Given the description of an element on the screen output the (x, y) to click on. 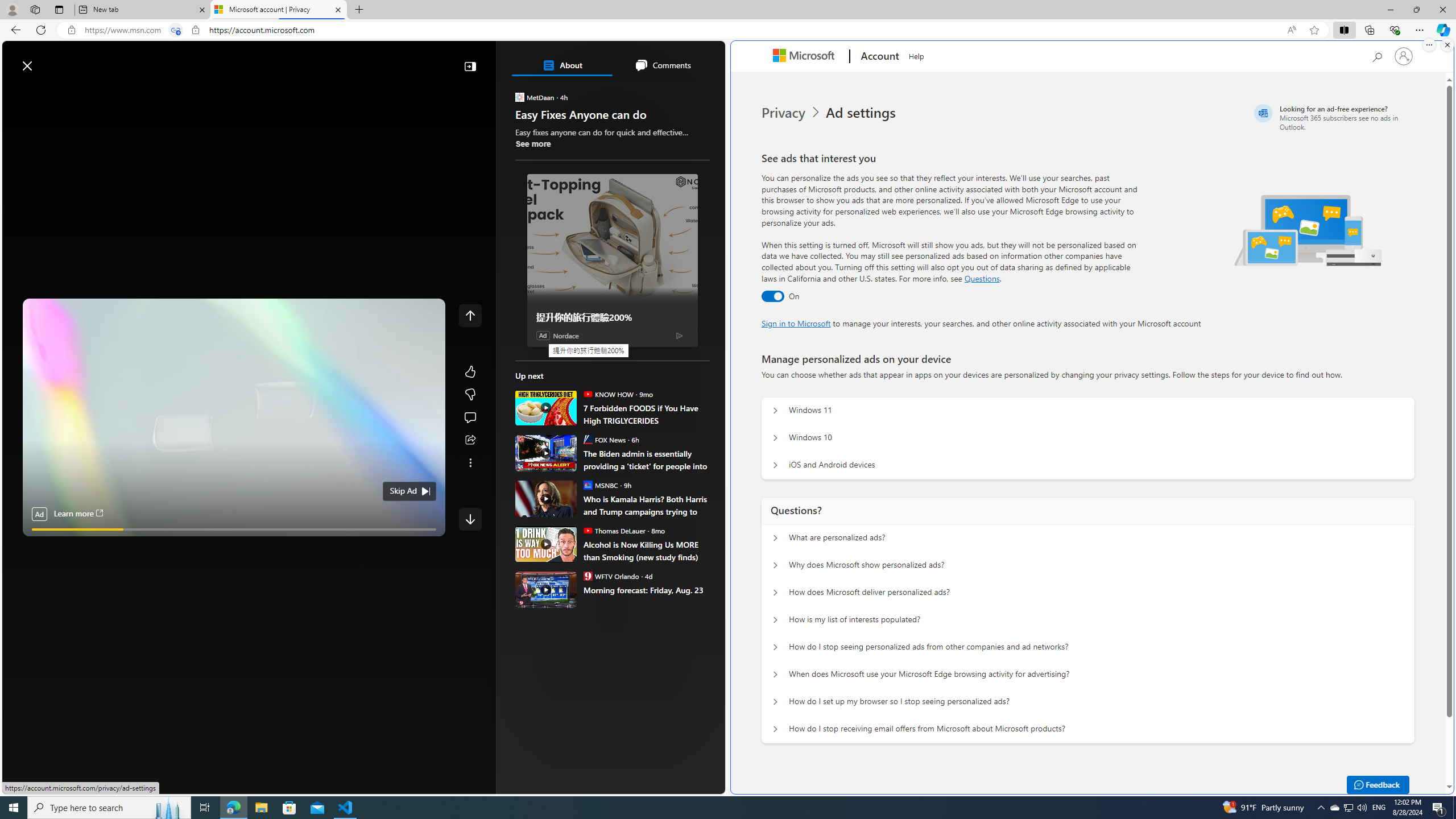
MSNBC (587, 484)
The Associated Press (554, 366)
Ad settings toggle (772, 296)
Close split screen. (1447, 45)
More like thisFewer like thisStart the conversation (469, 394)
FOX News FOX News (604, 438)
